Given the description of an element on the screen output the (x, y) to click on. 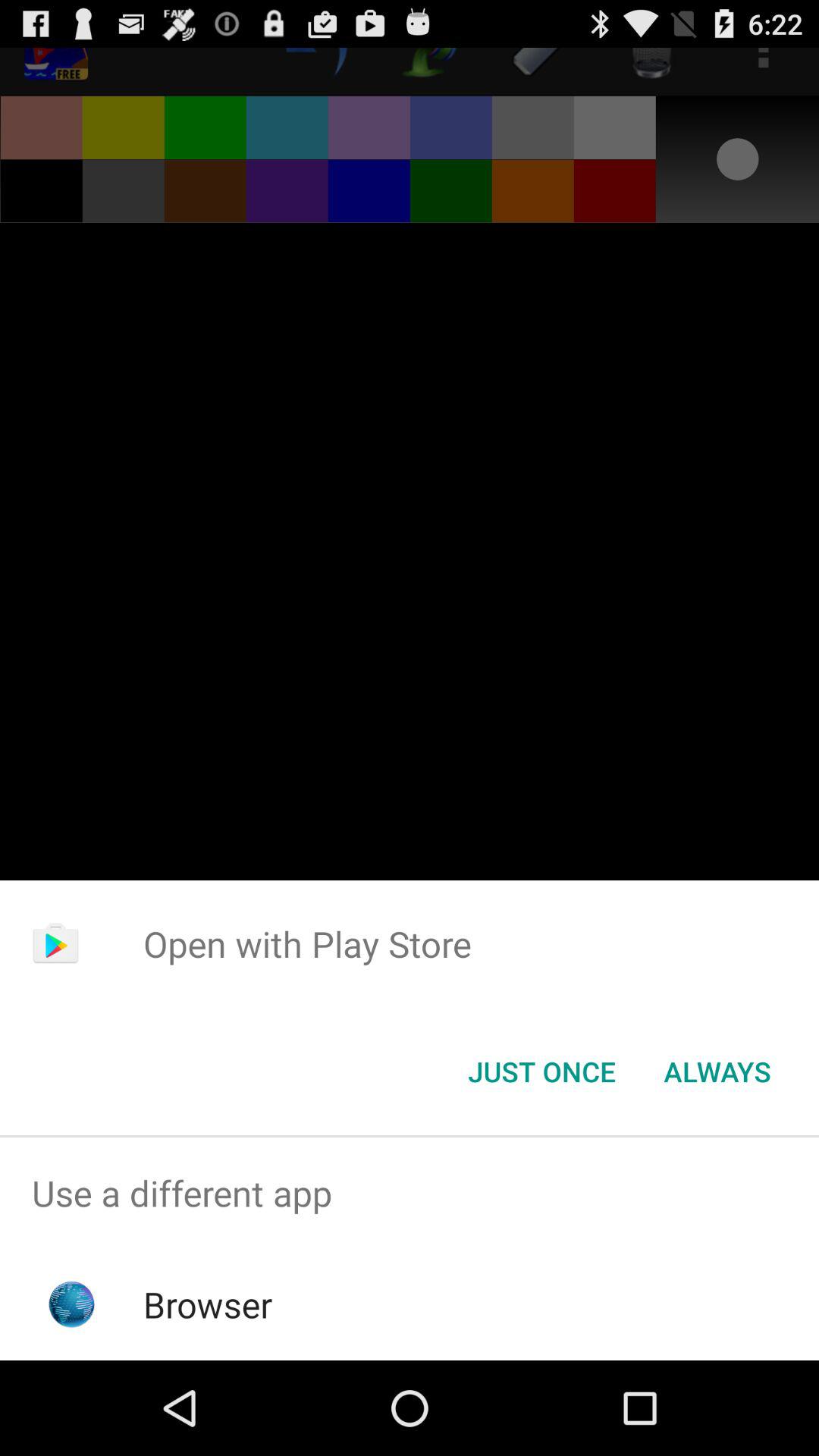
select item below the open with play icon (717, 1071)
